Given the description of an element on the screen output the (x, y) to click on. 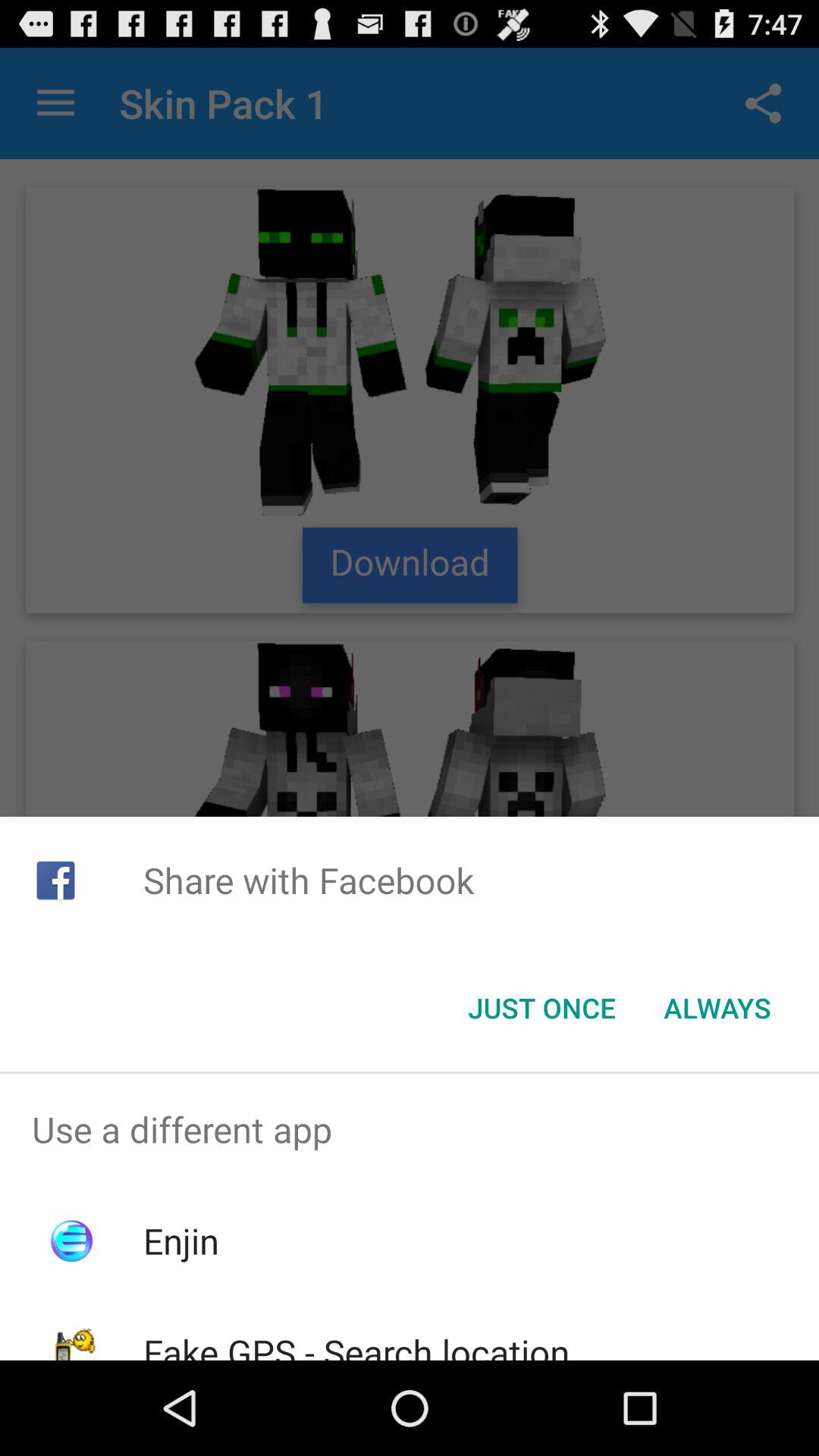
jump to fake gps search icon (356, 1344)
